Given the description of an element on the screen output the (x, y) to click on. 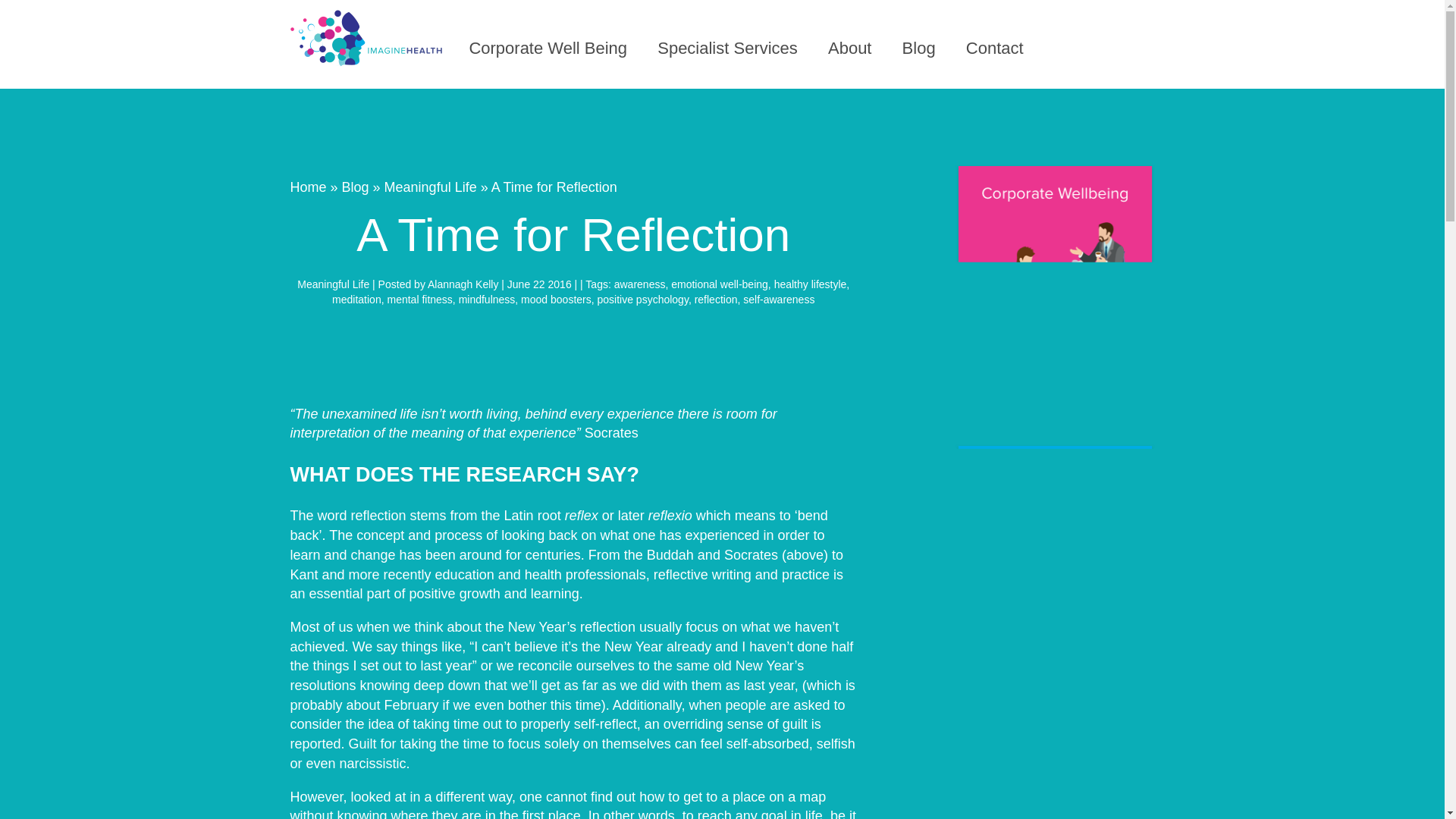
positive psychology (642, 299)
Meaningful Life (430, 186)
mindfulness (486, 299)
emotional well-being (719, 284)
Specialist Services (727, 47)
self-awareness (777, 299)
reflection (716, 299)
Contact (994, 47)
Meaningful Life (333, 284)
Share Link (573, 347)
